Given the description of an element on the screen output the (x, y) to click on. 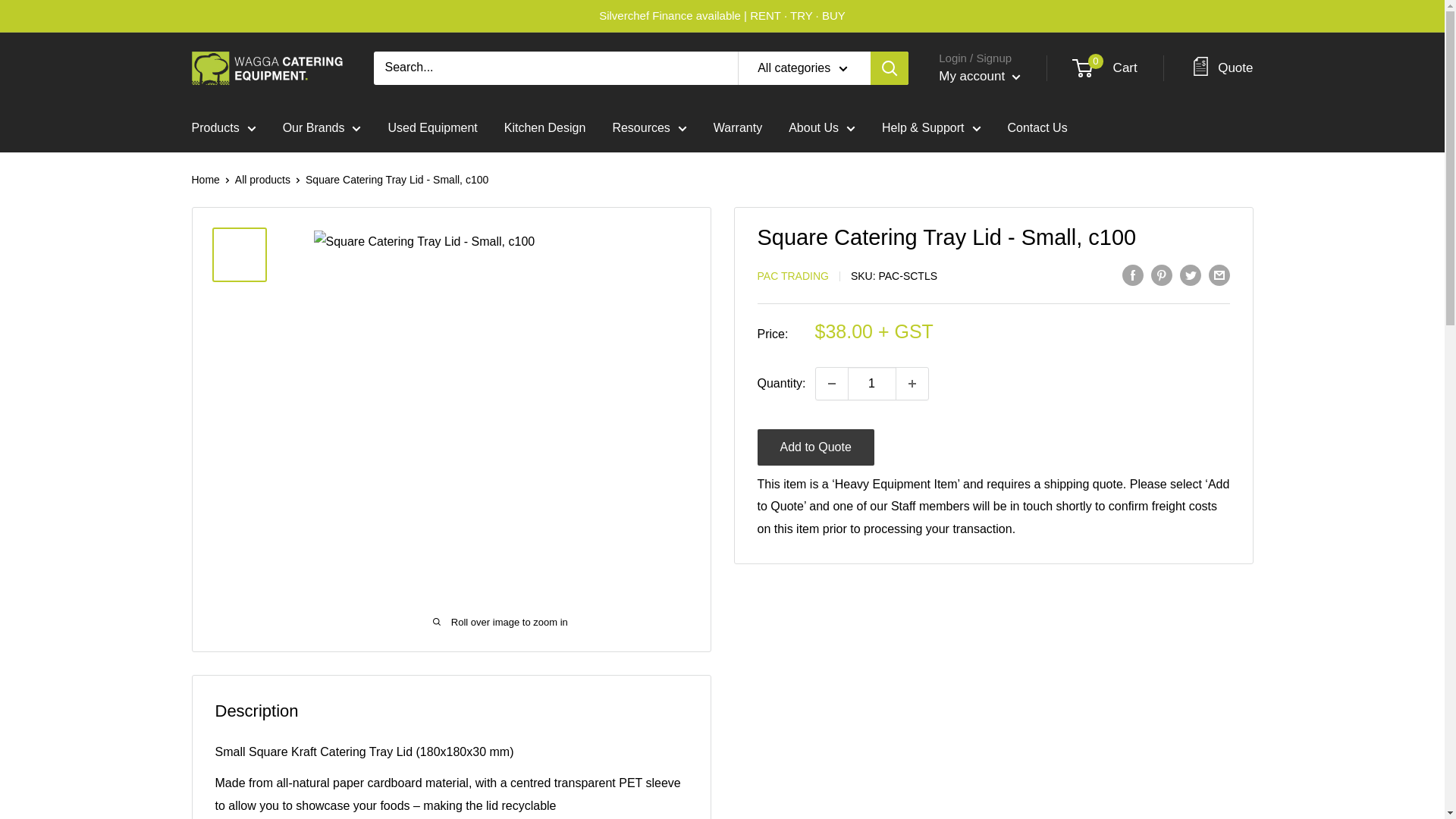
1 (871, 382)
Decrease quantity by 1 (831, 382)
Increase quantity by 1 (912, 382)
